Given the description of an element on the screen output the (x, y) to click on. 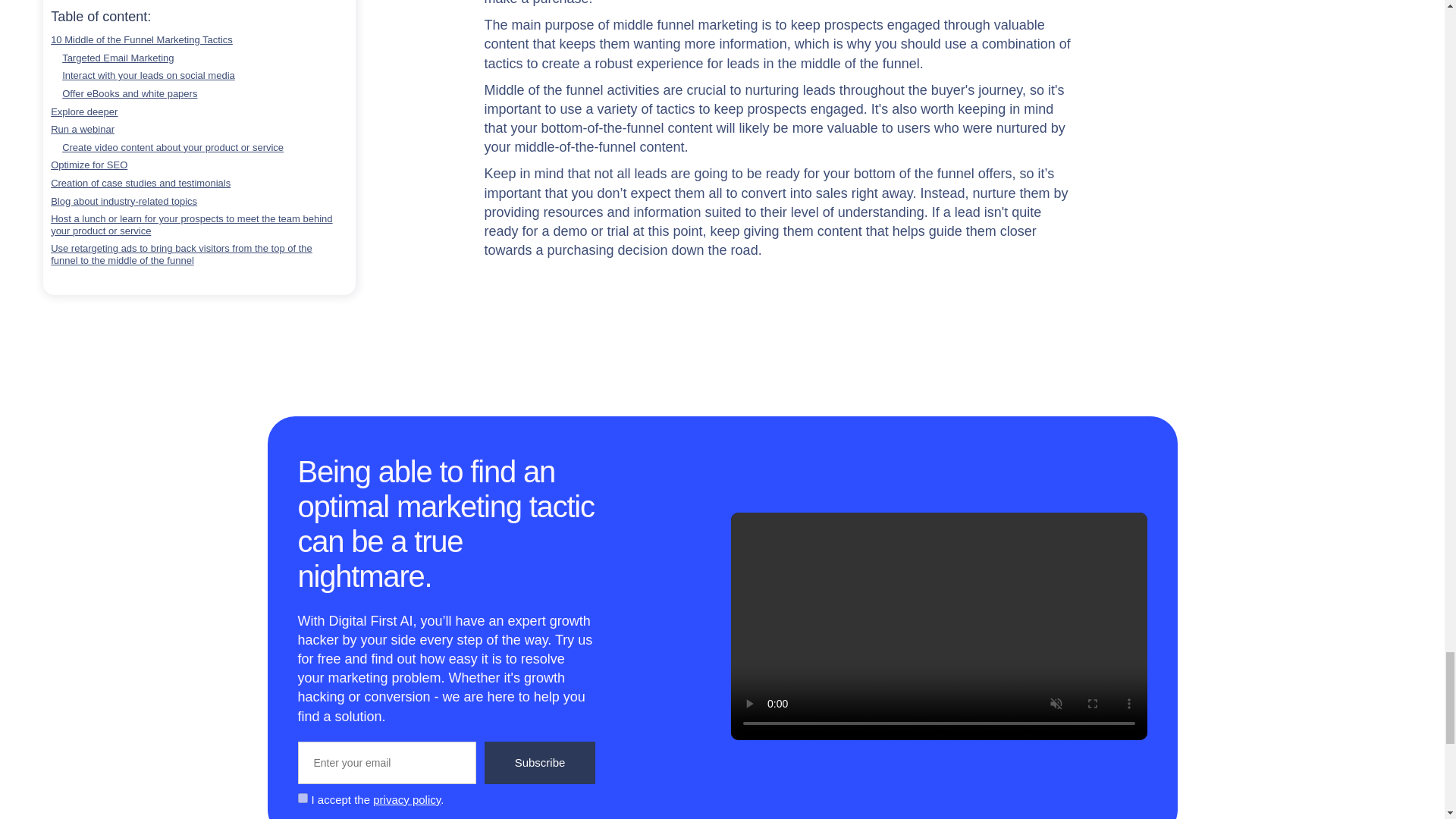
true (302, 798)
Subscribe (539, 762)
Subscribe (539, 762)
privacy policy (406, 799)
